Given the description of an element on the screen output the (x, y) to click on. 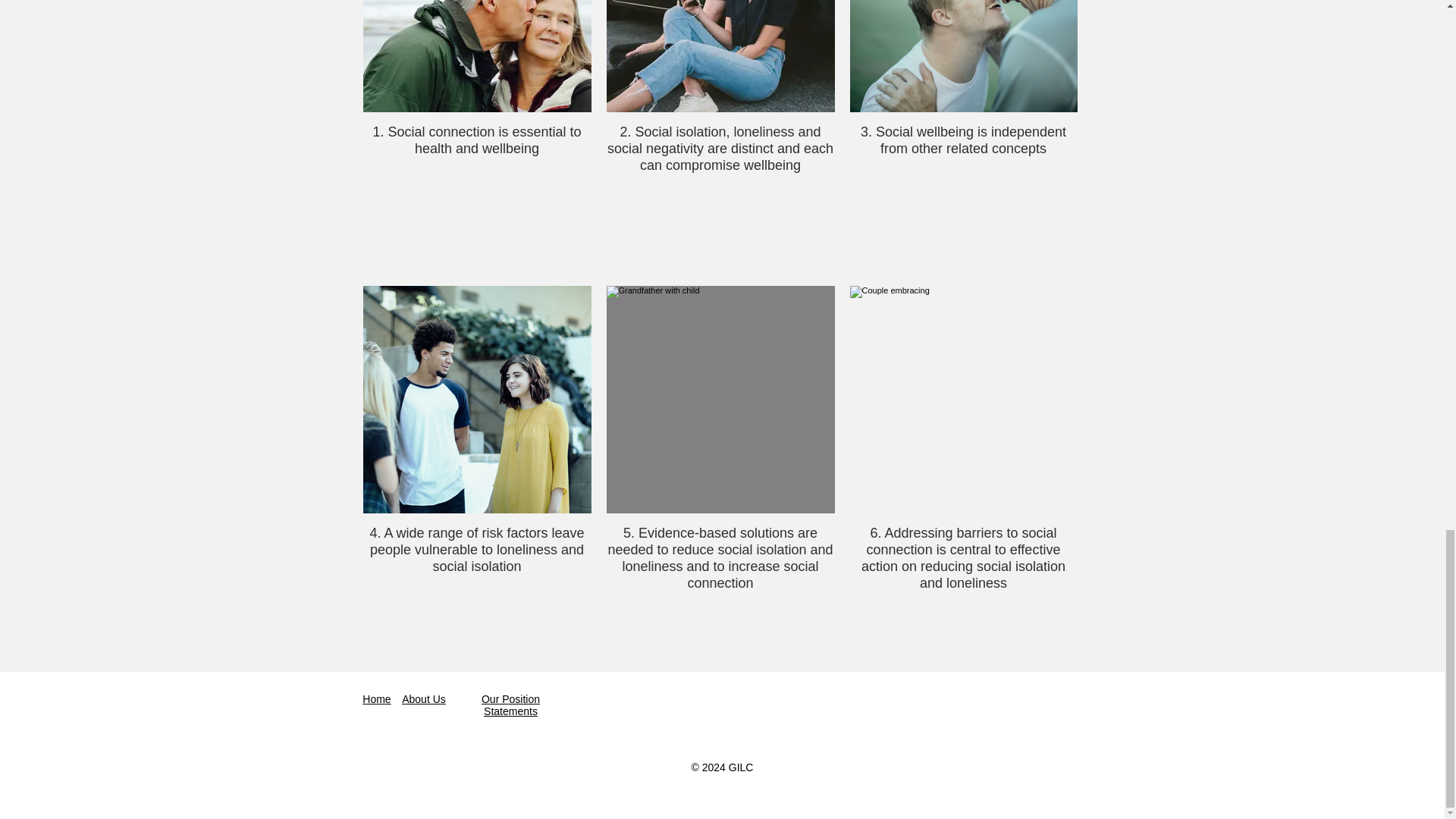
Our Position Statements (510, 704)
About Us (423, 698)
Home (376, 698)
